Given the description of an element on the screen output the (x, y) to click on. 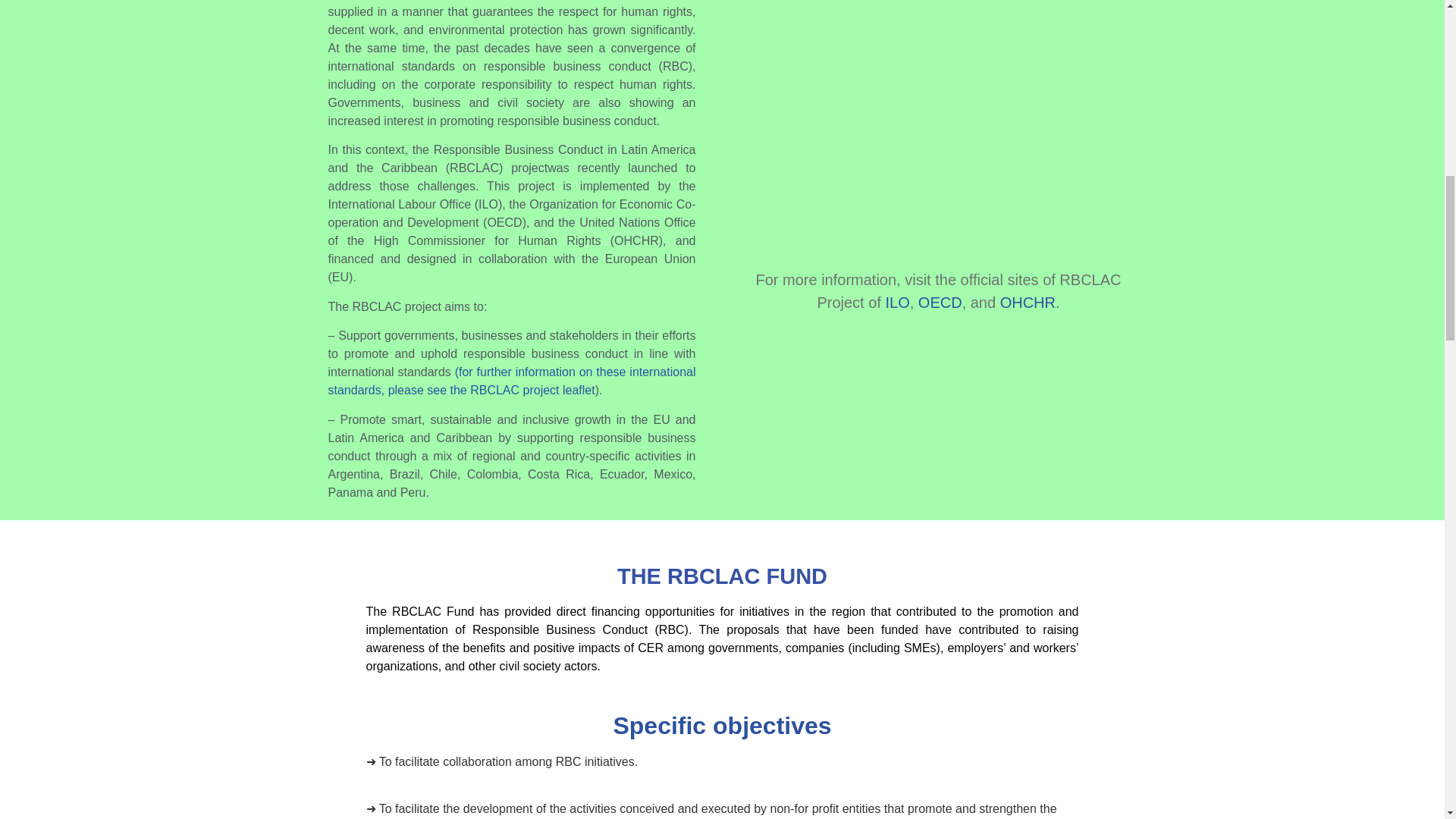
OECD (940, 302)
ILO (896, 302)
OHCHR (1027, 302)
